Given the description of an element on the screen output the (x, y) to click on. 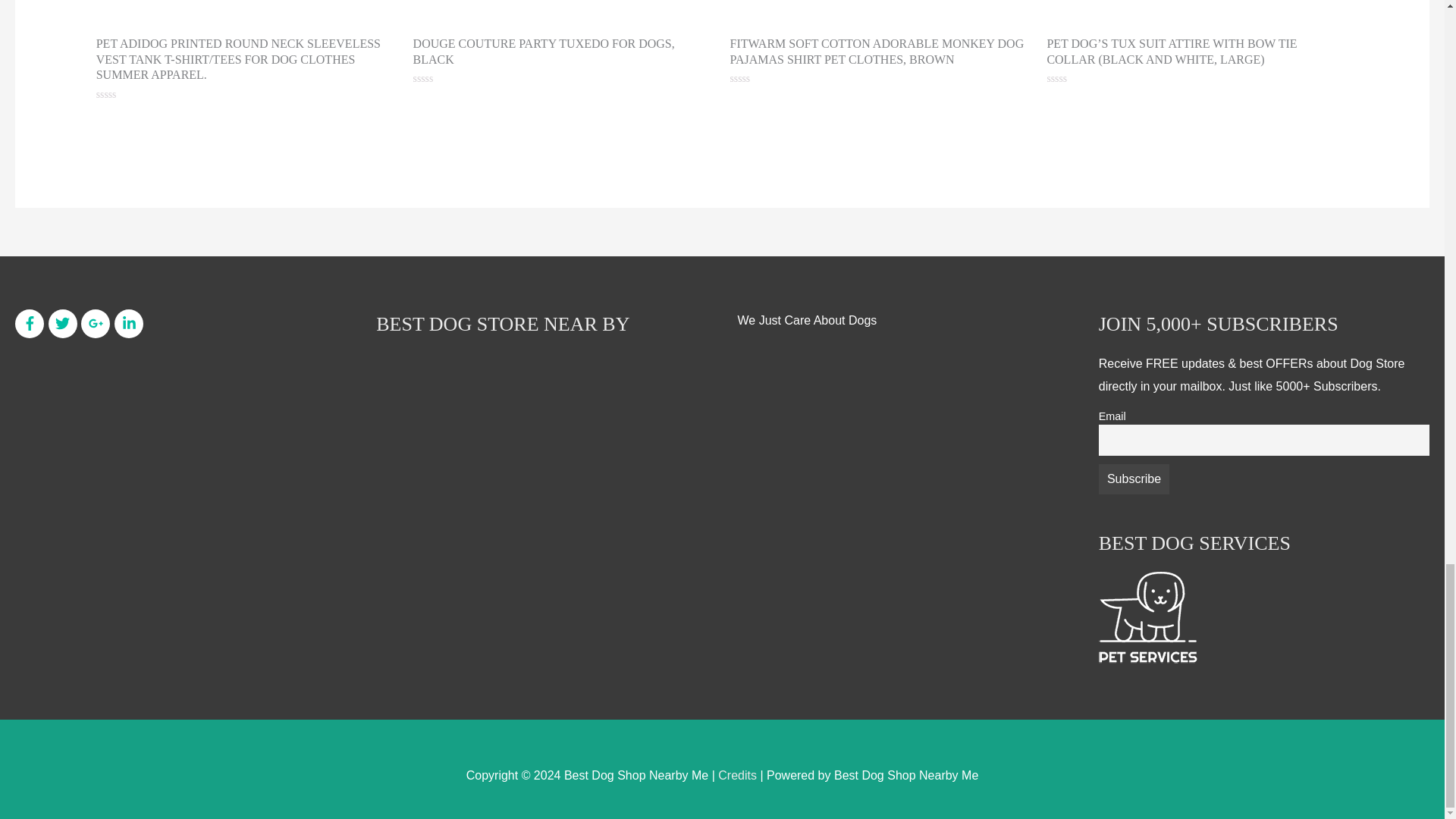
Subscribe (1134, 479)
